Given the description of an element on the screen output the (x, y) to click on. 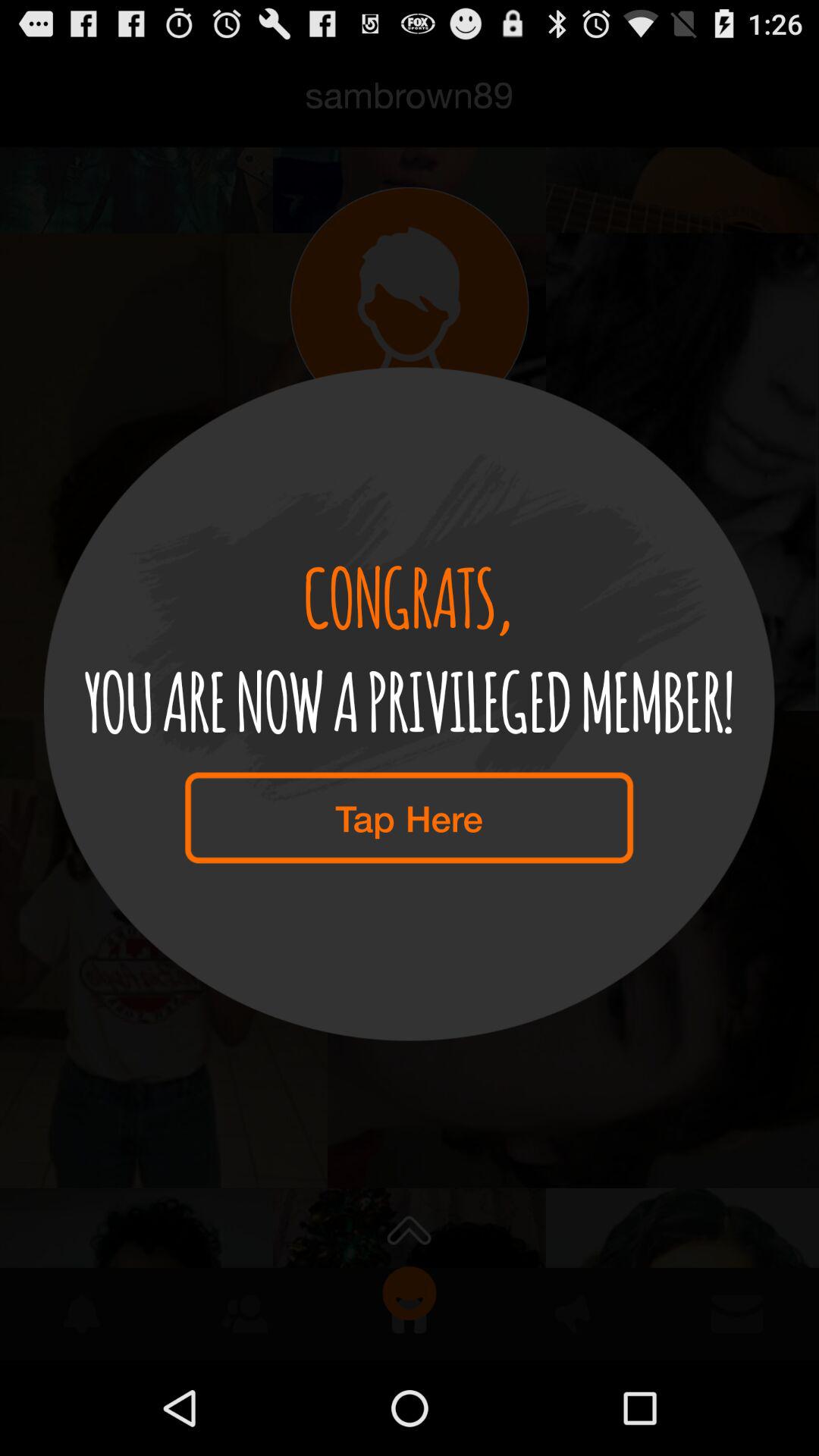
turn on item below you are now item (408, 817)
